Given the description of an element on the screen output the (x, y) to click on. 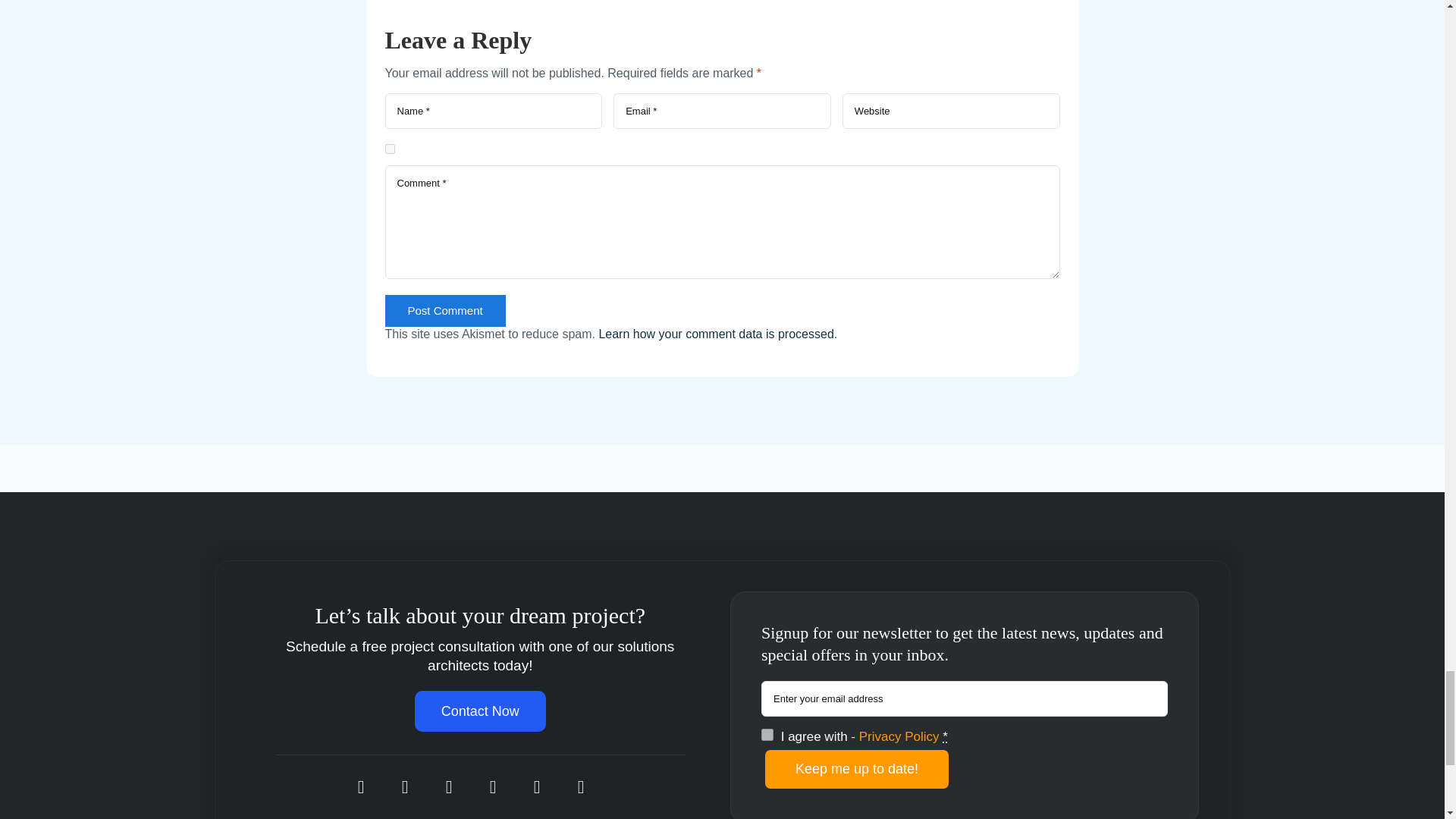
yes (389, 148)
Keep me up to date! (857, 769)
Post Comment (445, 310)
